Given the description of an element on the screen output the (x, y) to click on. 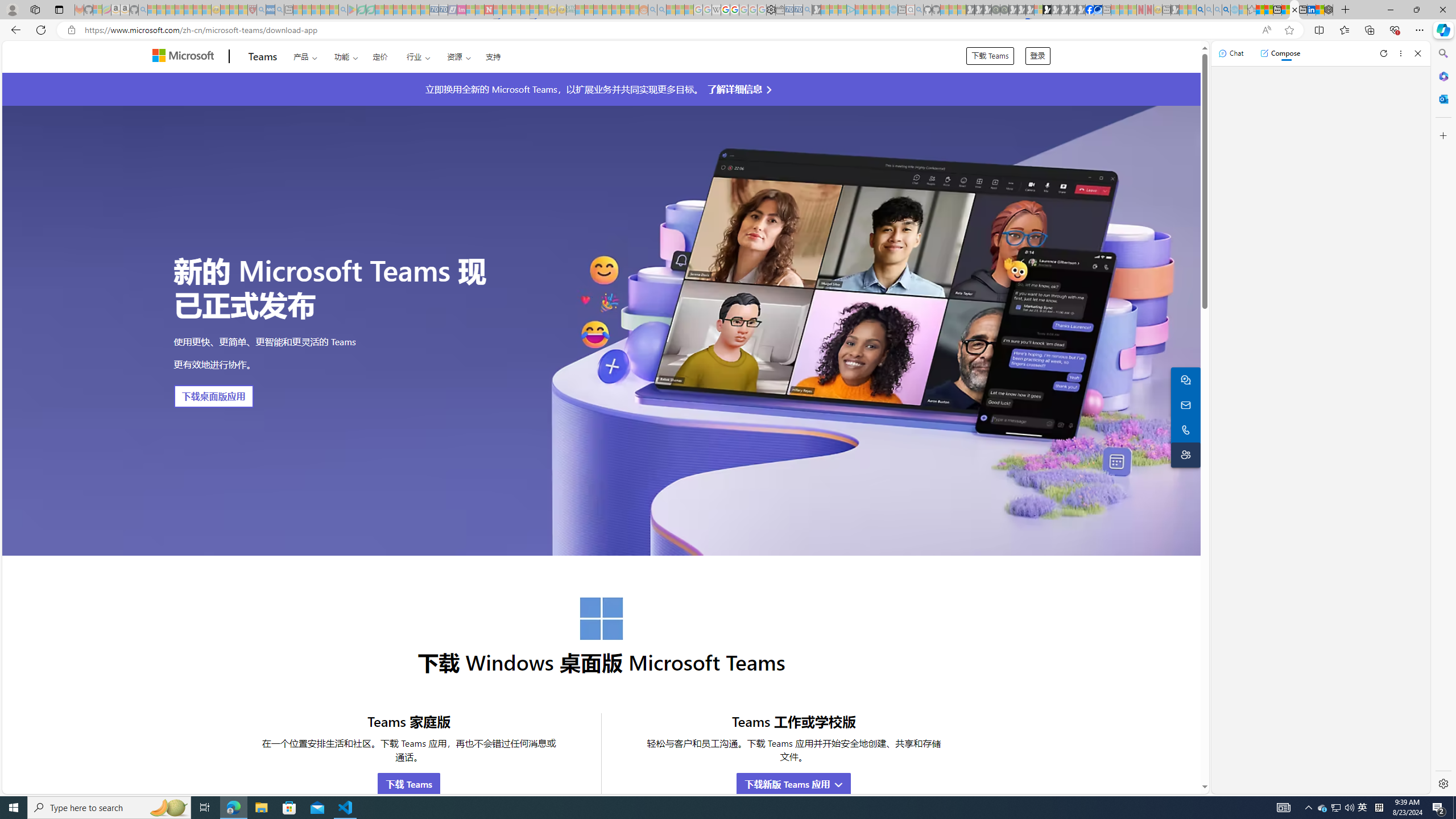
Teams (262, 56)
google - Search - Sleeping (342, 9)
